Given the description of an element on the screen output the (x, y) to click on. 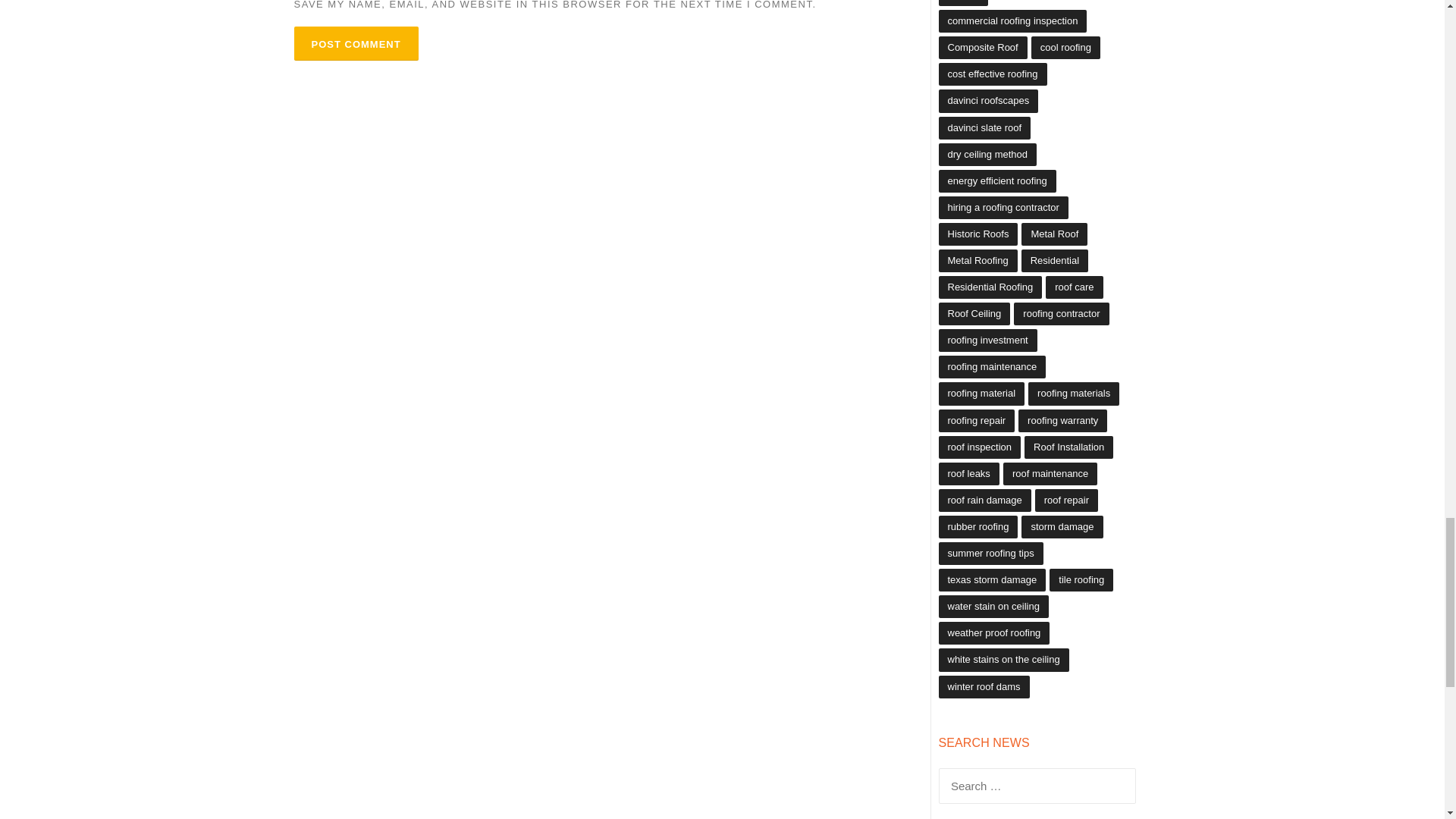
Post Comment (356, 43)
